Given the description of an element on the screen output the (x, y) to click on. 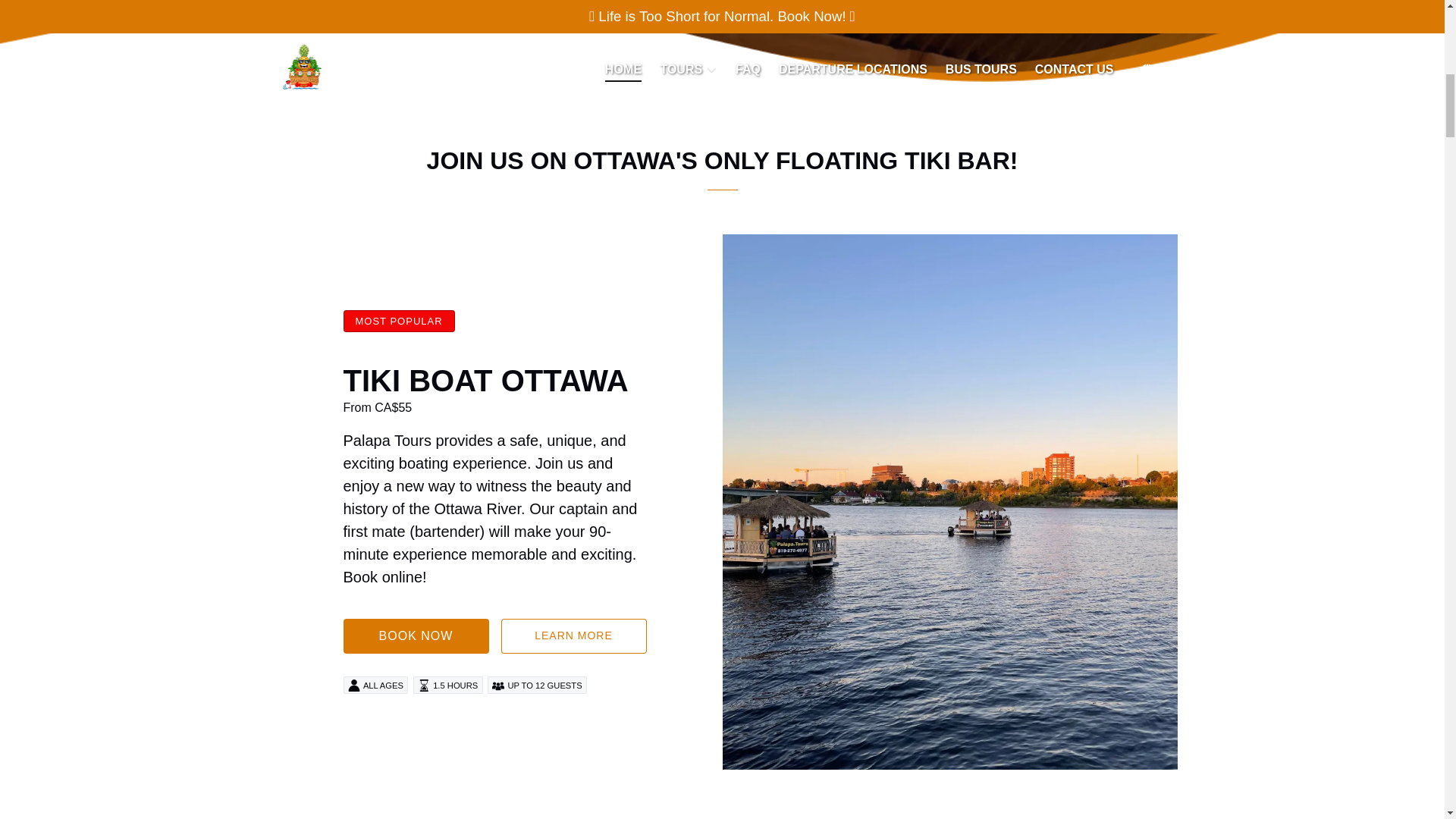
Click here to visit Tiki Boat Ottawa (484, 380)
FareHarbor (1342, 64)
TIKI BOAT OTTAWA (484, 380)
LEARN MORE (573, 636)
BOOK NOW (414, 636)
